Given the description of an element on the screen output the (x, y) to click on. 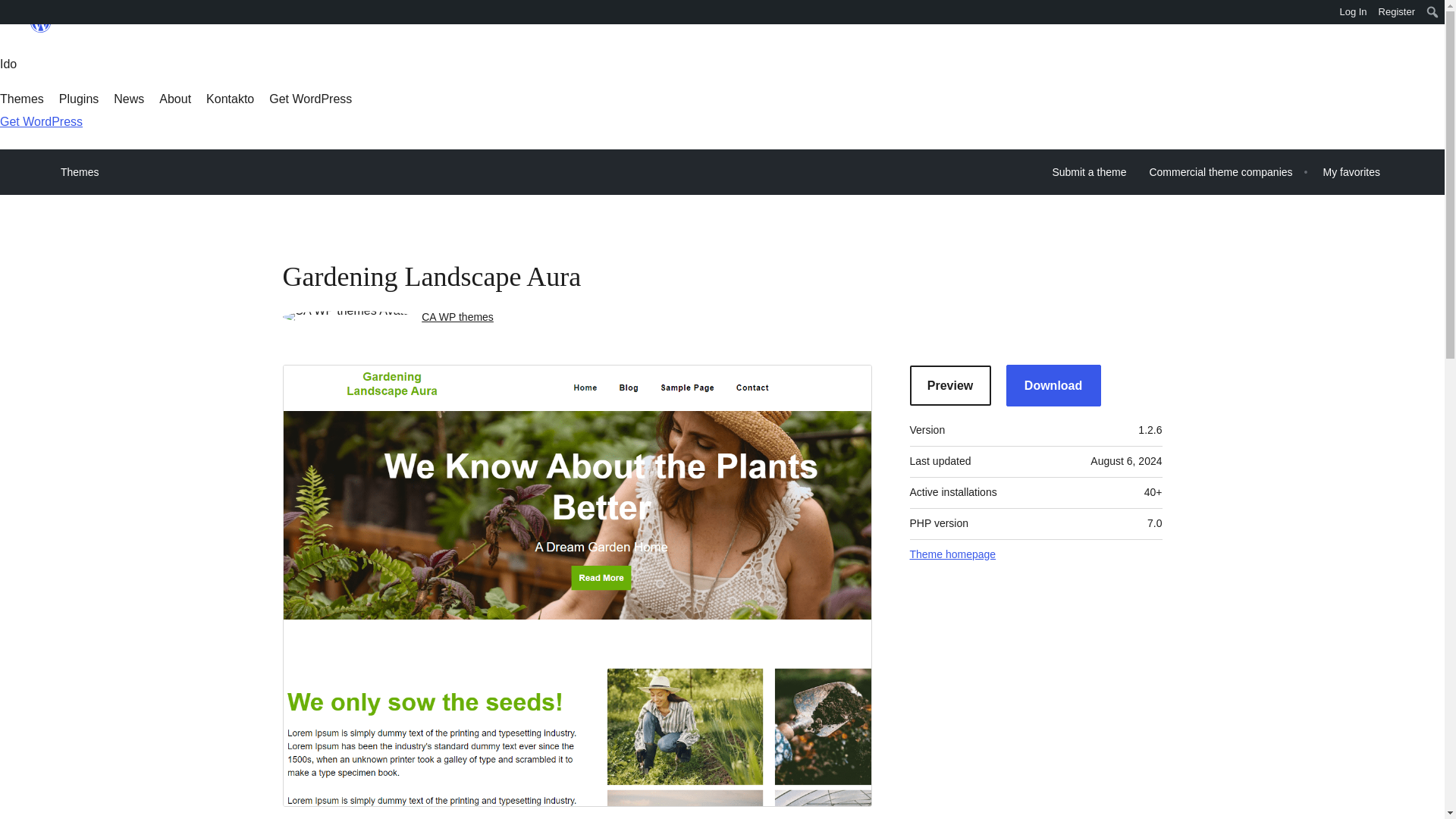
Themes (21, 98)
Get WordPress (41, 121)
CA WP themes (457, 316)
Commercial theme companies (1219, 171)
Search (16, 13)
Plugins (79, 98)
Theme homepage (952, 555)
Log In (1353, 12)
My favorites (1351, 171)
Register (1397, 12)
